Given the description of an element on the screen output the (x, y) to click on. 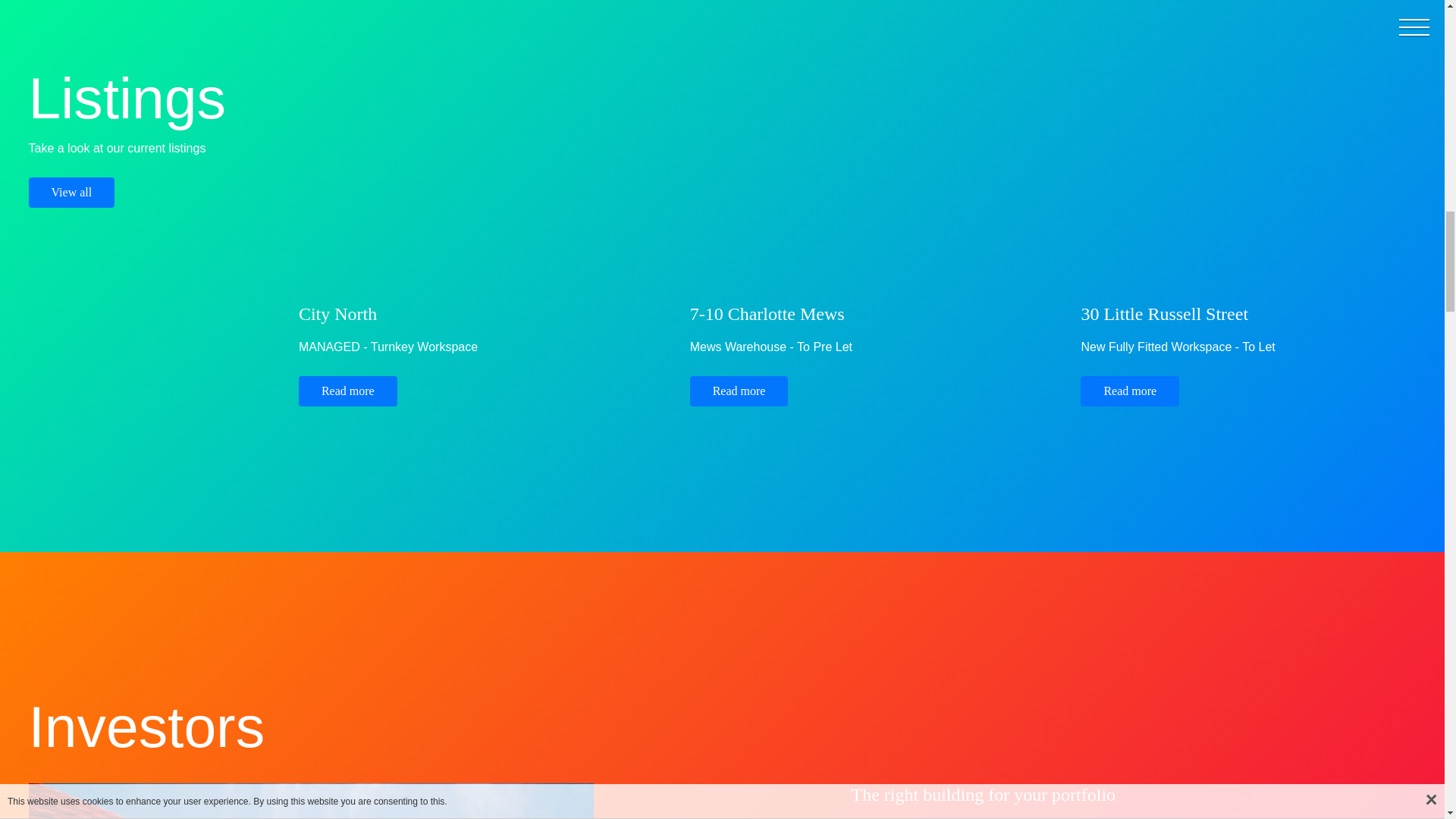
Read more (347, 390)
View all (72, 192)
Read more (1129, 390)
Read more (739, 390)
